Given the description of an element on the screen output the (x, y) to click on. 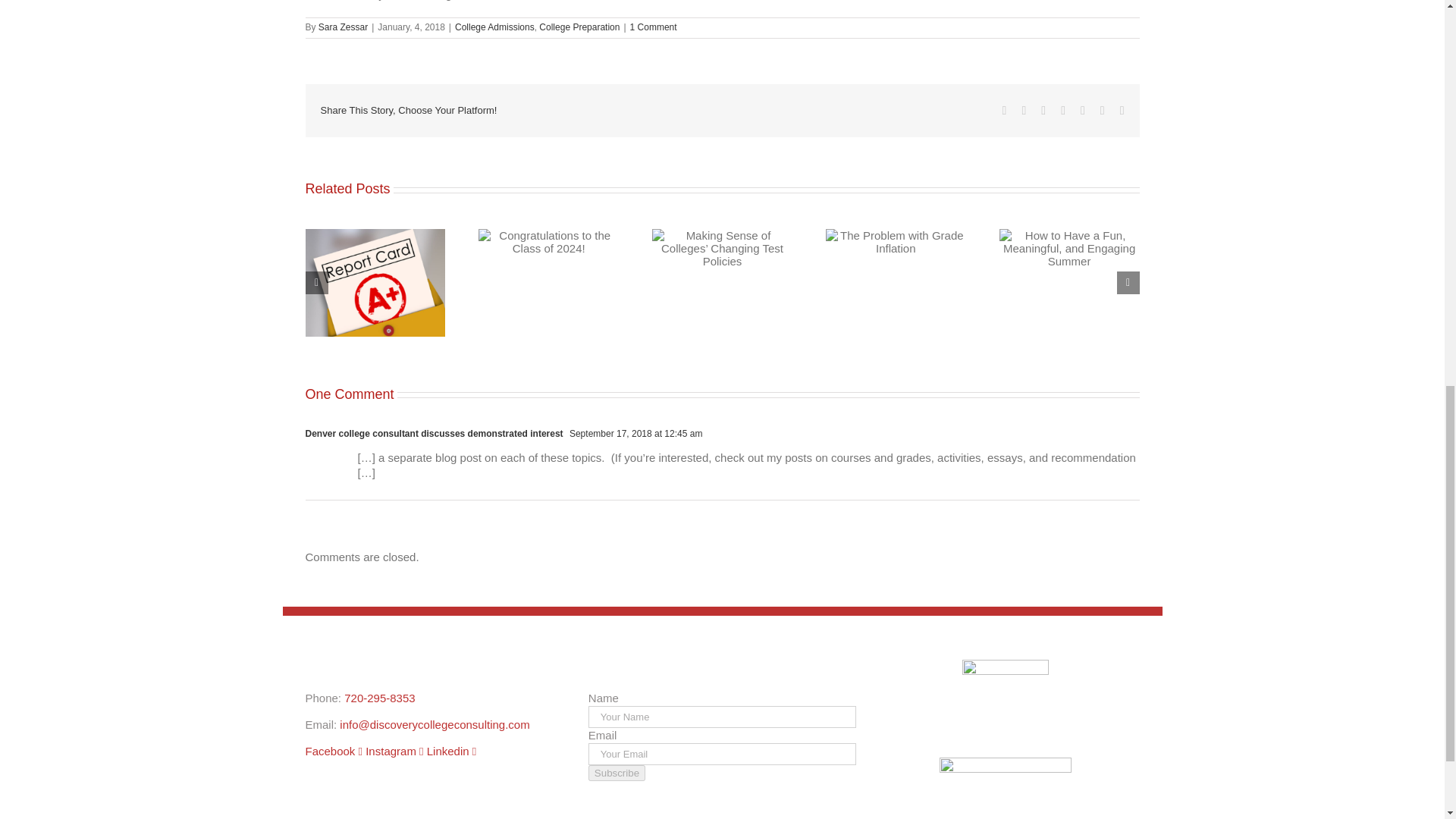
X (1024, 110)
Vk (1102, 110)
Tumblr (1082, 110)
Email (1121, 110)
Reddit (1043, 110)
Facebook (1005, 110)
Posts by Sara Zessar (343, 27)
LinkedIn (1063, 110)
Facebook (1005, 110)
College Preparation (579, 27)
X (1024, 110)
College Admissions (494, 27)
1 Comment (653, 27)
Sara Zessar (343, 27)
